Given the description of an element on the screen output the (x, y) to click on. 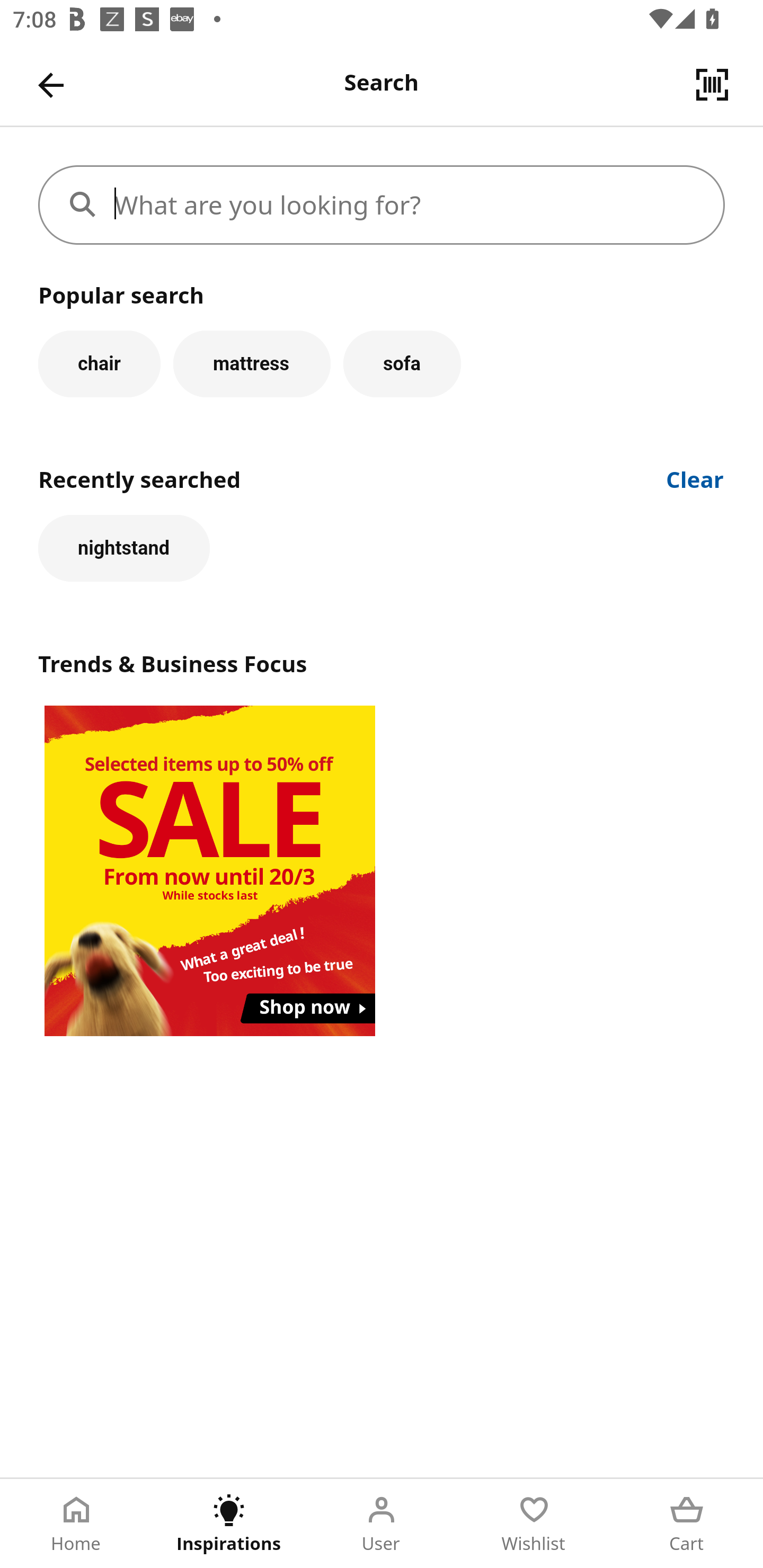
chair (99, 363)
mattress (251, 363)
sofa (401, 363)
Clear (695, 477)
nightstand (123, 547)
Home
Tab 1 of 5 (76, 1522)
Inspirations
Tab 2 of 5 (228, 1522)
User
Tab 3 of 5 (381, 1522)
Wishlist
Tab 4 of 5 (533, 1522)
Cart
Tab 5 of 5 (686, 1522)
